Given the description of an element on the screen output the (x, y) to click on. 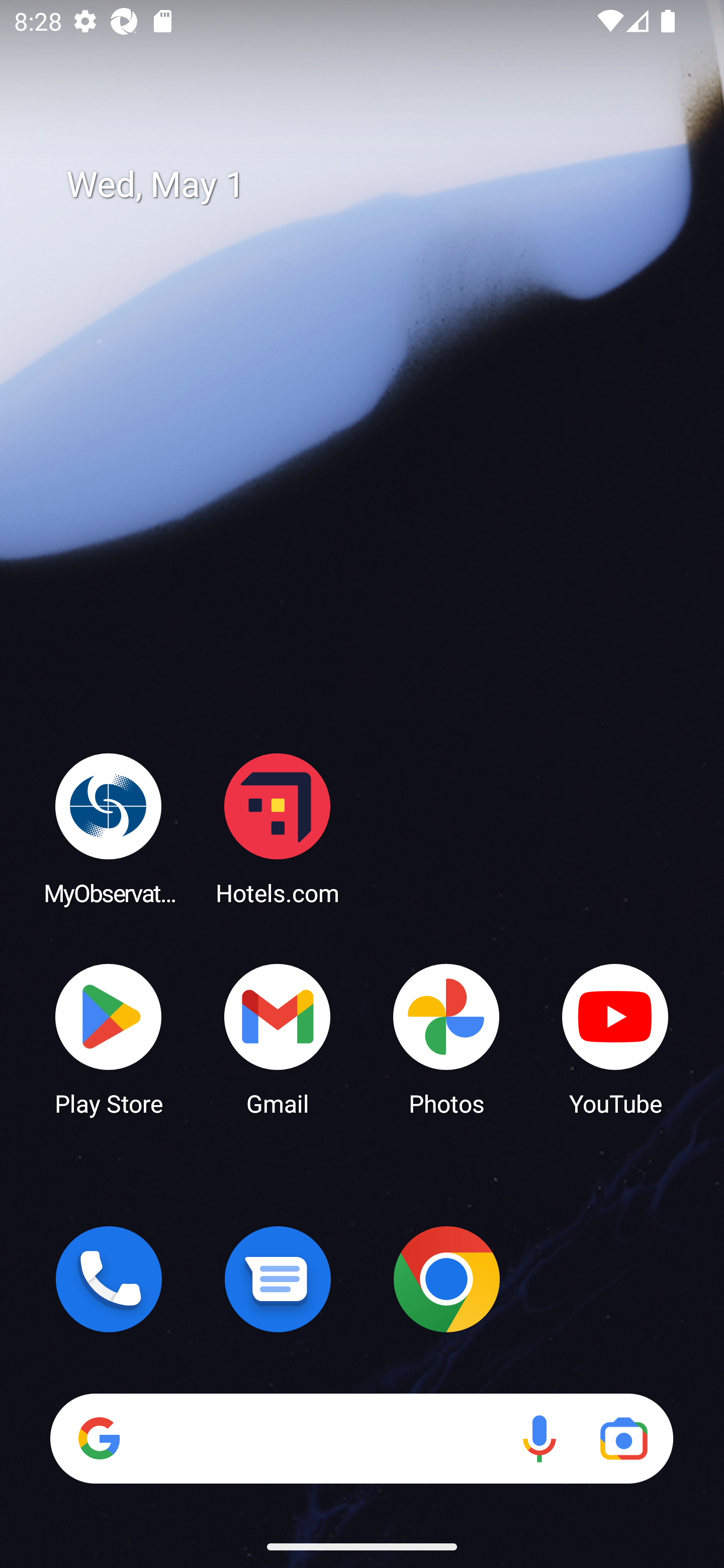
Wed, May 1 (375, 184)
MyObservatory (108, 828)
Hotels.com (277, 828)
Play Store (108, 1038)
Gmail (277, 1038)
Photos (445, 1038)
YouTube (615, 1038)
Phone (108, 1279)
Messages (277, 1279)
Chrome (446, 1279)
Search Voice search Google Lens (361, 1438)
Voice search (539, 1438)
Google Lens (623, 1438)
